Given the description of an element on the screen output the (x, y) to click on. 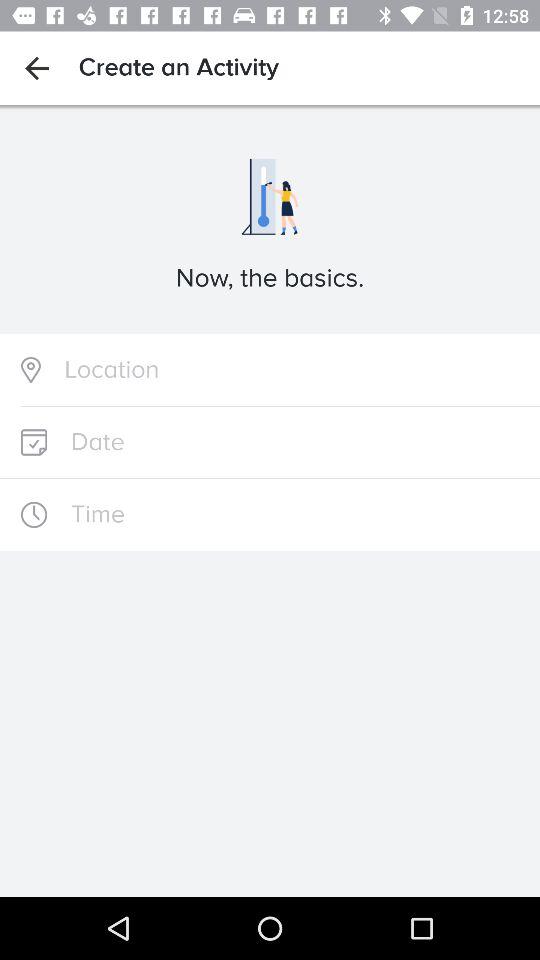
choose the icon next to the create an activity item (36, 68)
